Given the description of an element on the screen output the (x, y) to click on. 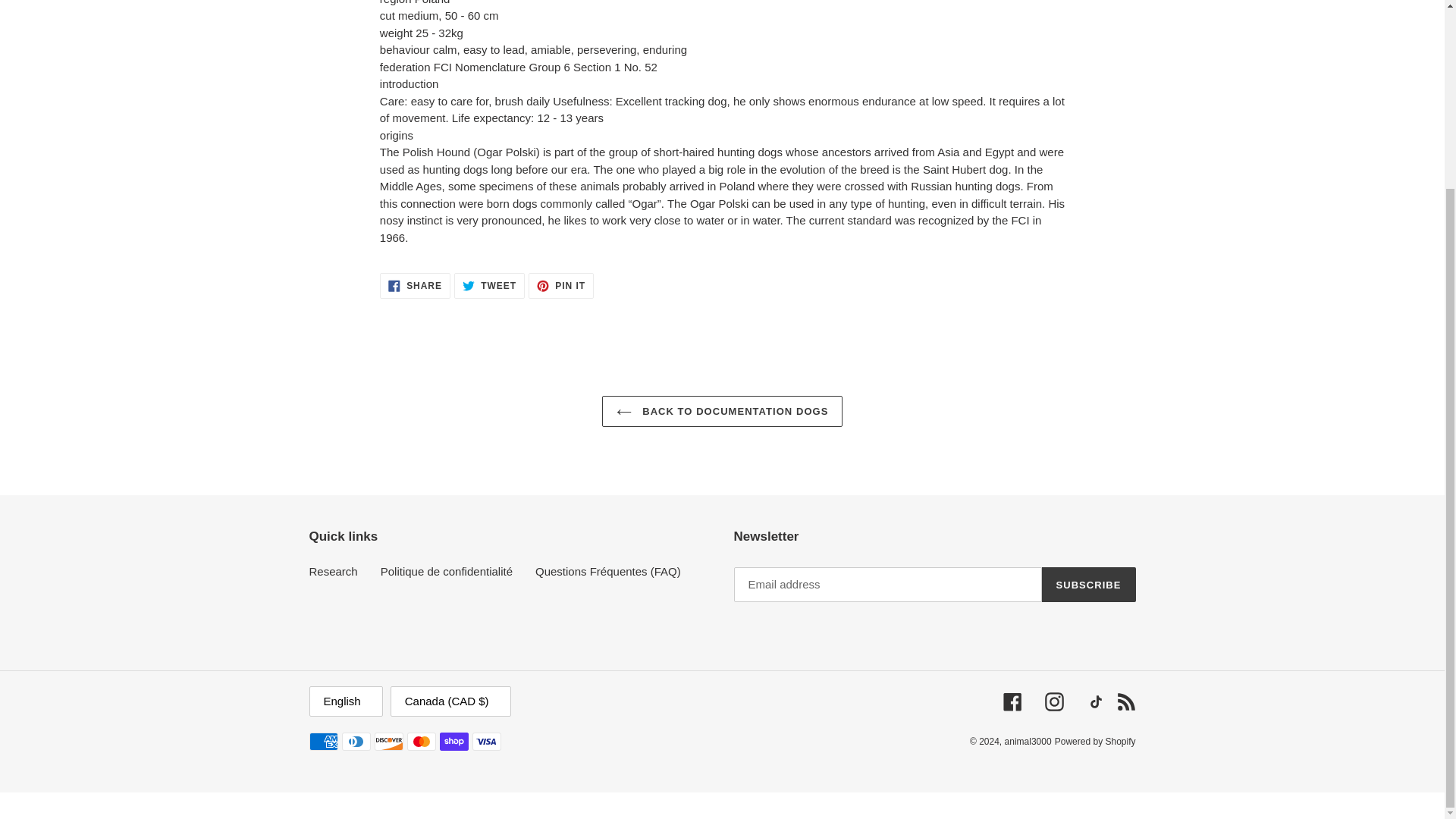
BACK TO DOCUMENTATION DOGS (722, 410)
English (561, 285)
Research (414, 285)
SUBSCRIBE (489, 285)
